Given the description of an element on the screen output the (x, y) to click on. 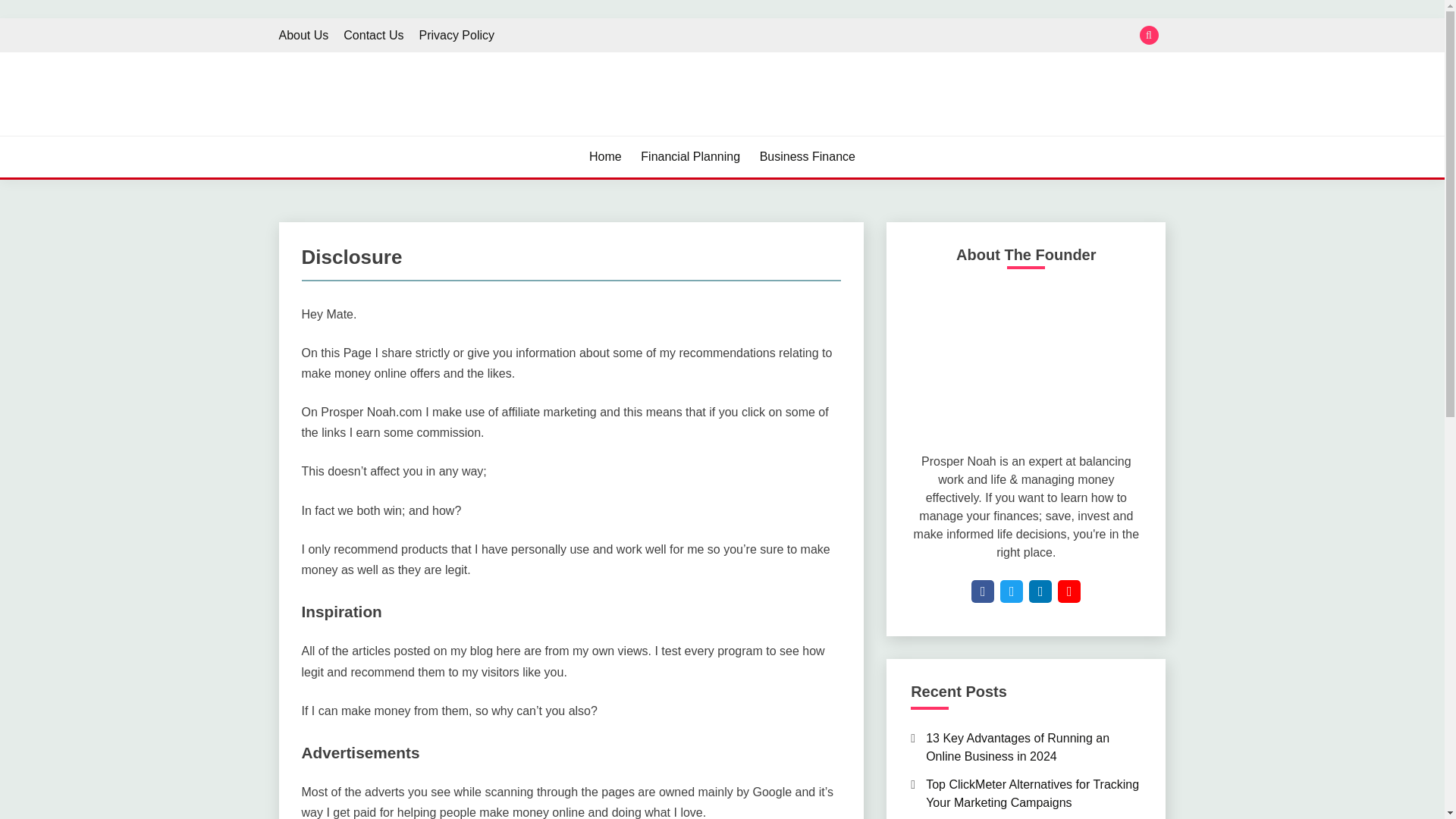
Search (832, 18)
About Us (304, 34)
Contact Us (373, 34)
twitter (1011, 590)
Home (605, 157)
linkedin (1040, 590)
youtube (1069, 590)
13 Key Advantages of Running an Online Business in 2024 (1017, 747)
PROSPERNOAH (388, 133)
Business Finance (808, 157)
Financial Planning (689, 157)
facebook (982, 590)
Privacy Policy (457, 34)
